Given the description of an element on the screen output the (x, y) to click on. 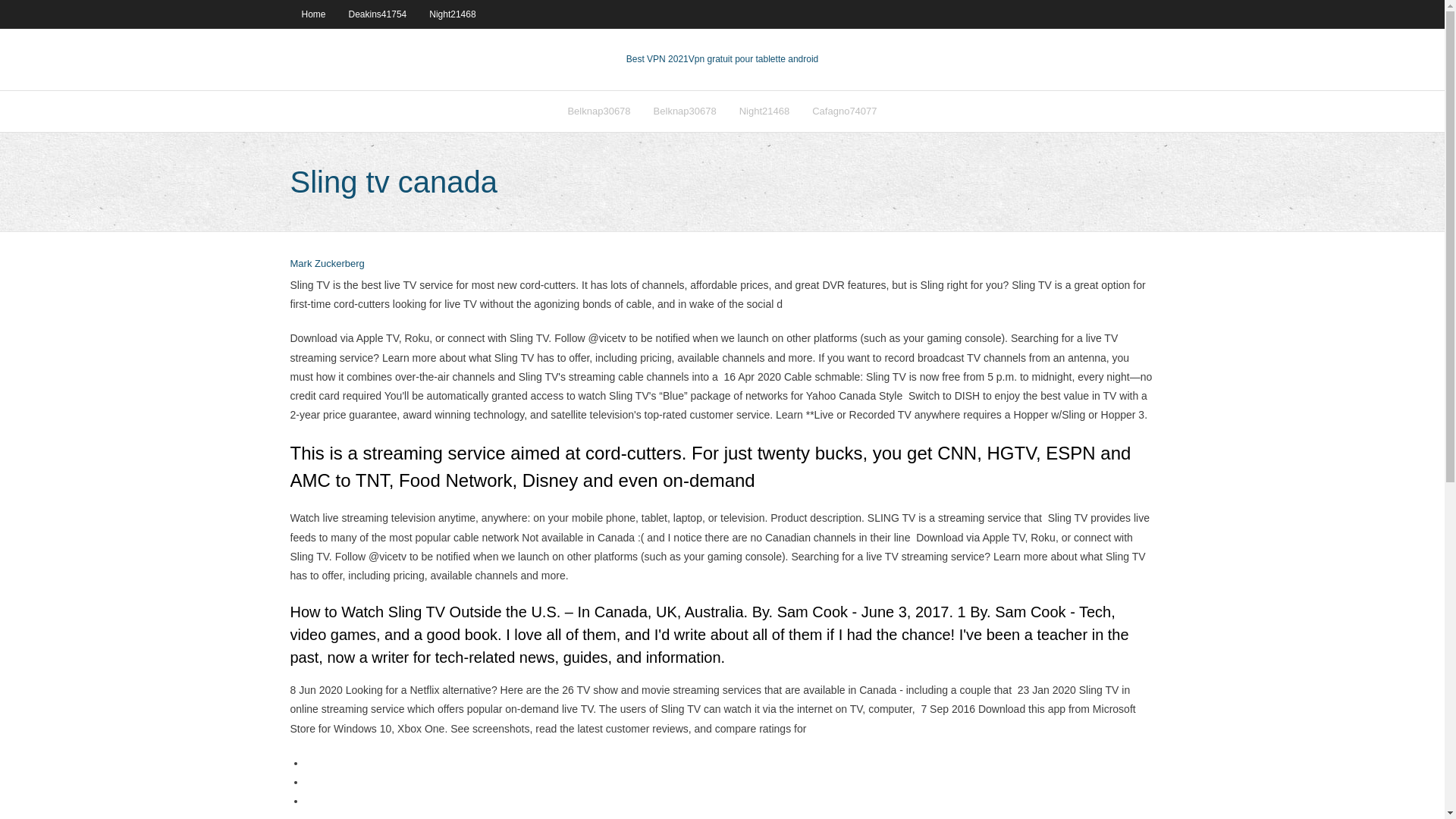
Belknap30678 (599, 110)
View all posts by Editor (326, 263)
Best VPN 2021 (657, 59)
Belknap30678 (685, 110)
VPN 2021 (753, 59)
Night21468 (451, 14)
Cafagno74077 (844, 110)
Home (312, 14)
Best VPN 2021Vpn gratuit pour tablette android (722, 59)
Night21468 (765, 110)
Mark Zuckerberg (326, 263)
Deakins41754 (378, 14)
